Given the description of an element on the screen output the (x, y) to click on. 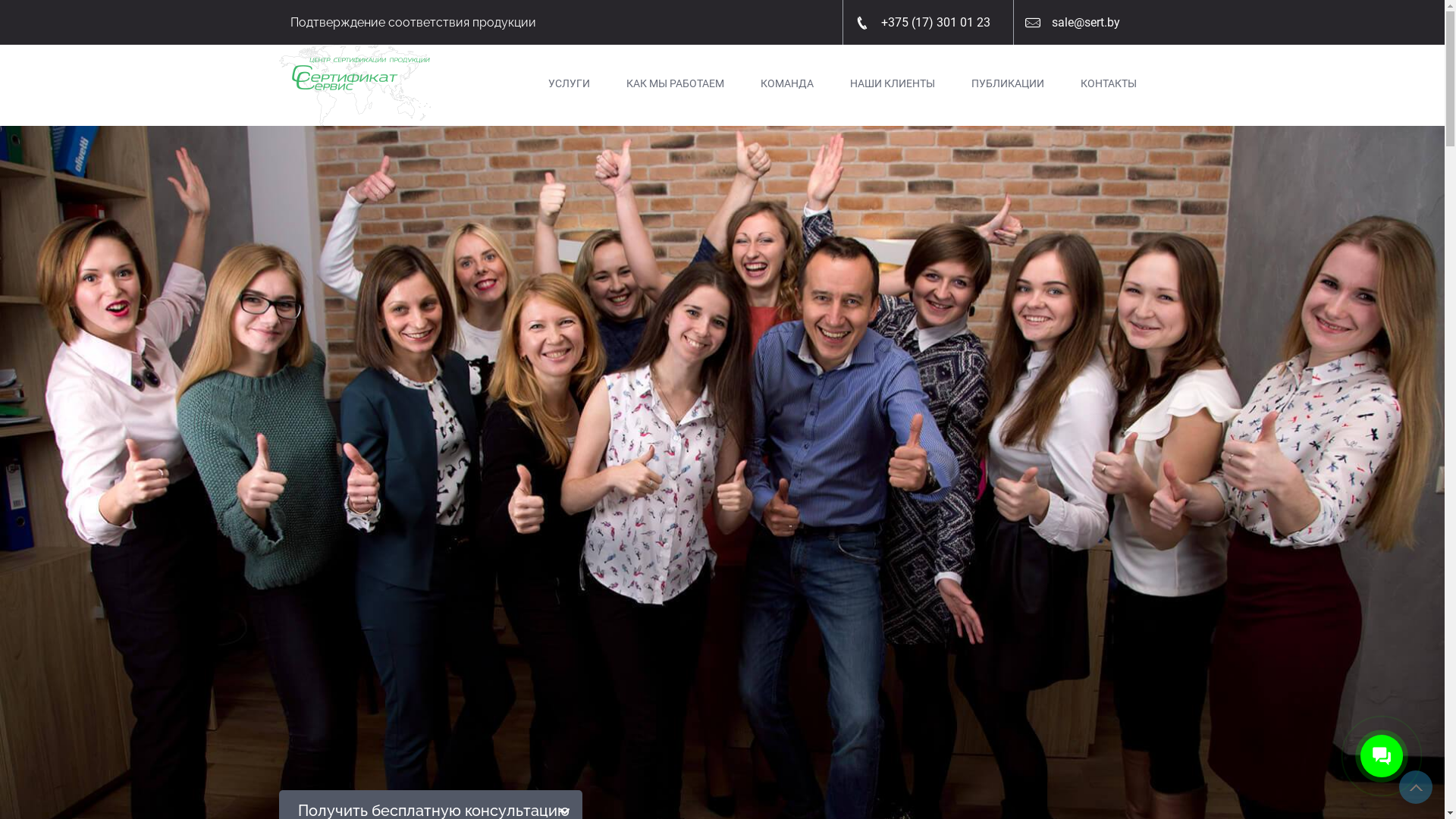
sale@sert.by Element type: text (1077, 22)
+375 (17) 301 01 23 Element type: text (935, 22)
+375 (17) 301 01 23 Element type: text (928, 22)
sale@sert.by Element type: text (1085, 22)
